Given the description of an element on the screen output the (x, y) to click on. 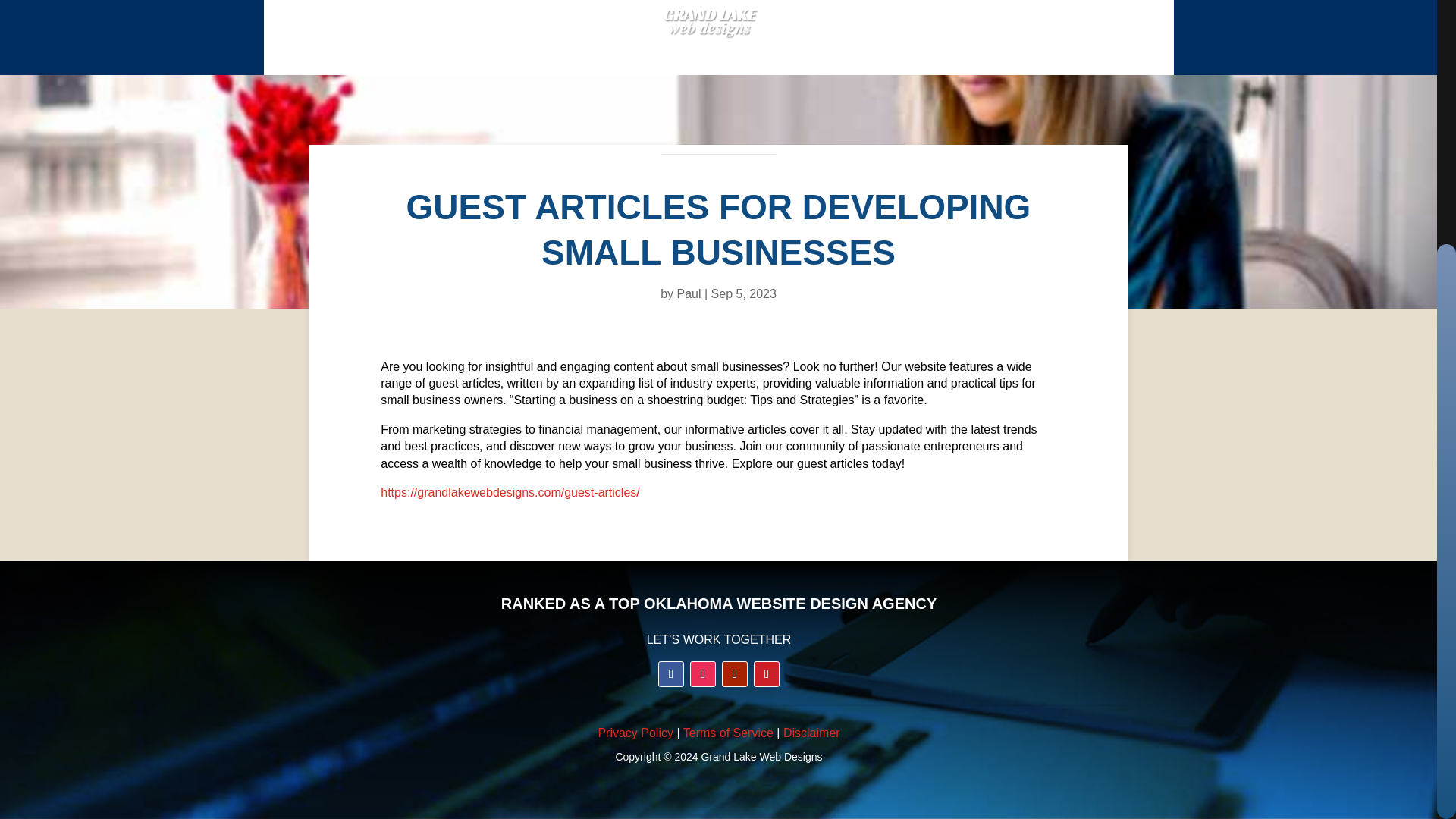
Follow on Pinterest (766, 673)
Posts by Paul (688, 293)
Follow on Instagram (703, 673)
Follow on Facebook (671, 673)
Follow on Youtube (735, 673)
